Given the description of an element on the screen output the (x, y) to click on. 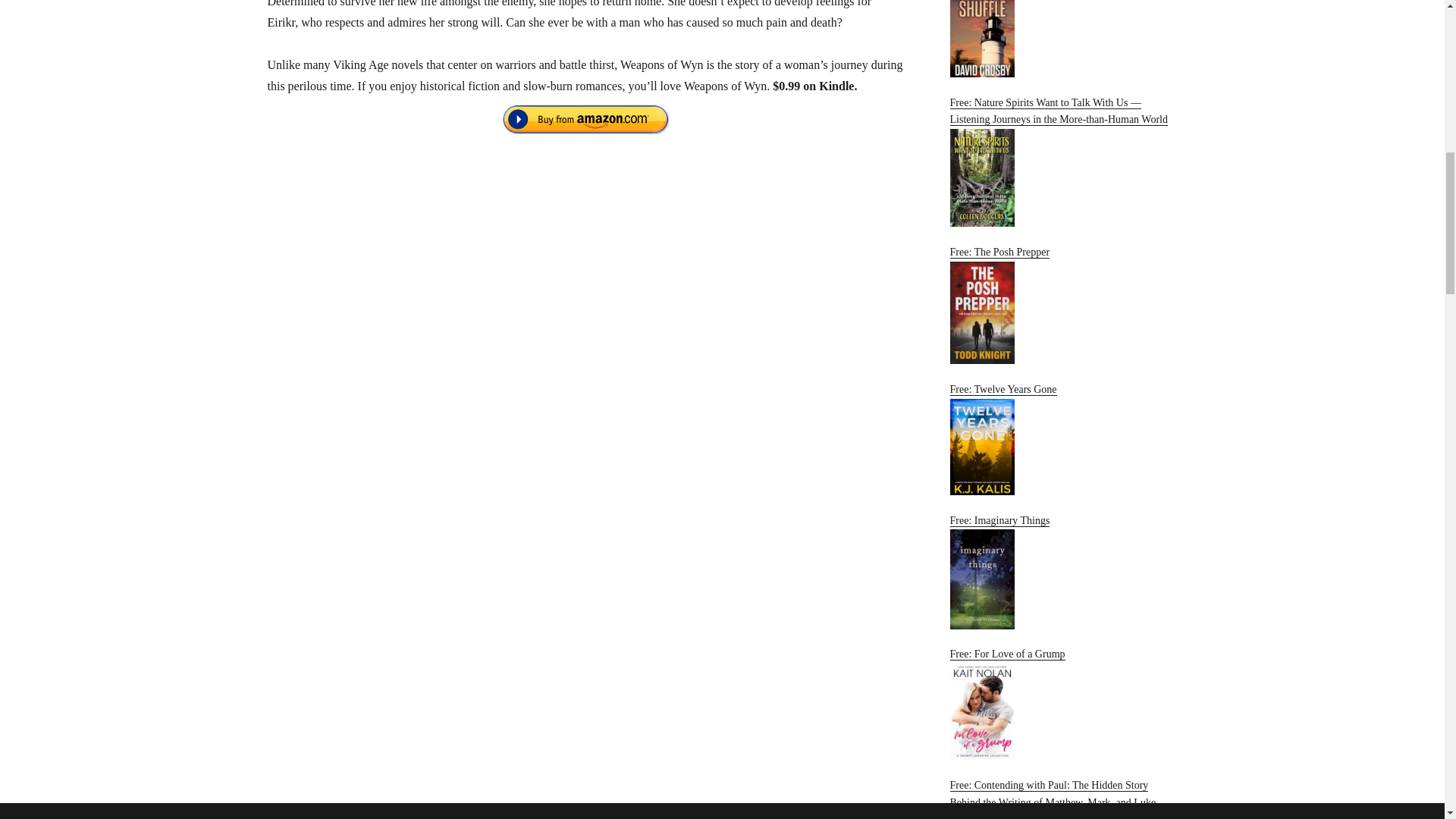
Free: The Posh Prepper (1062, 304)
Free: For Love of a Grump (1062, 704)
Free: Imaginary Things (1062, 572)
Free: Twelve Years Gone (1062, 439)
